Given the description of an element on the screen output the (x, y) to click on. 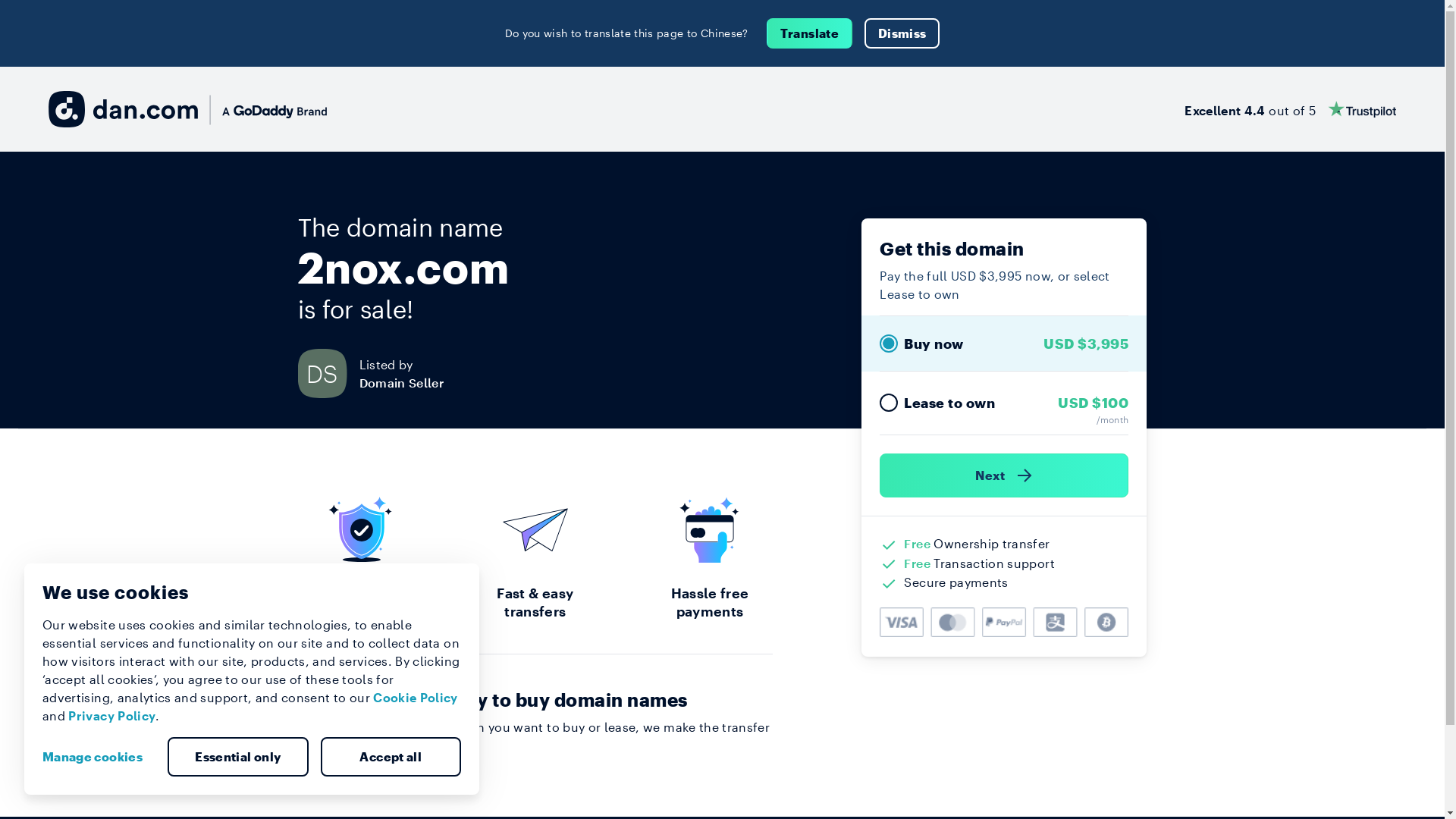
Accept all Element type: text (390, 756)
Next
) Element type: text (1003, 475)
Cookie Policy Element type: text (415, 697)
Dismiss Element type: text (901, 33)
Excellent 4.4 out of 5 Element type: text (1290, 109)
Translate Element type: text (809, 33)
Manage cookies Element type: text (98, 756)
Privacy Policy Element type: text (111, 715)
Essential only Element type: text (237, 756)
